Given the description of an element on the screen output the (x, y) to click on. 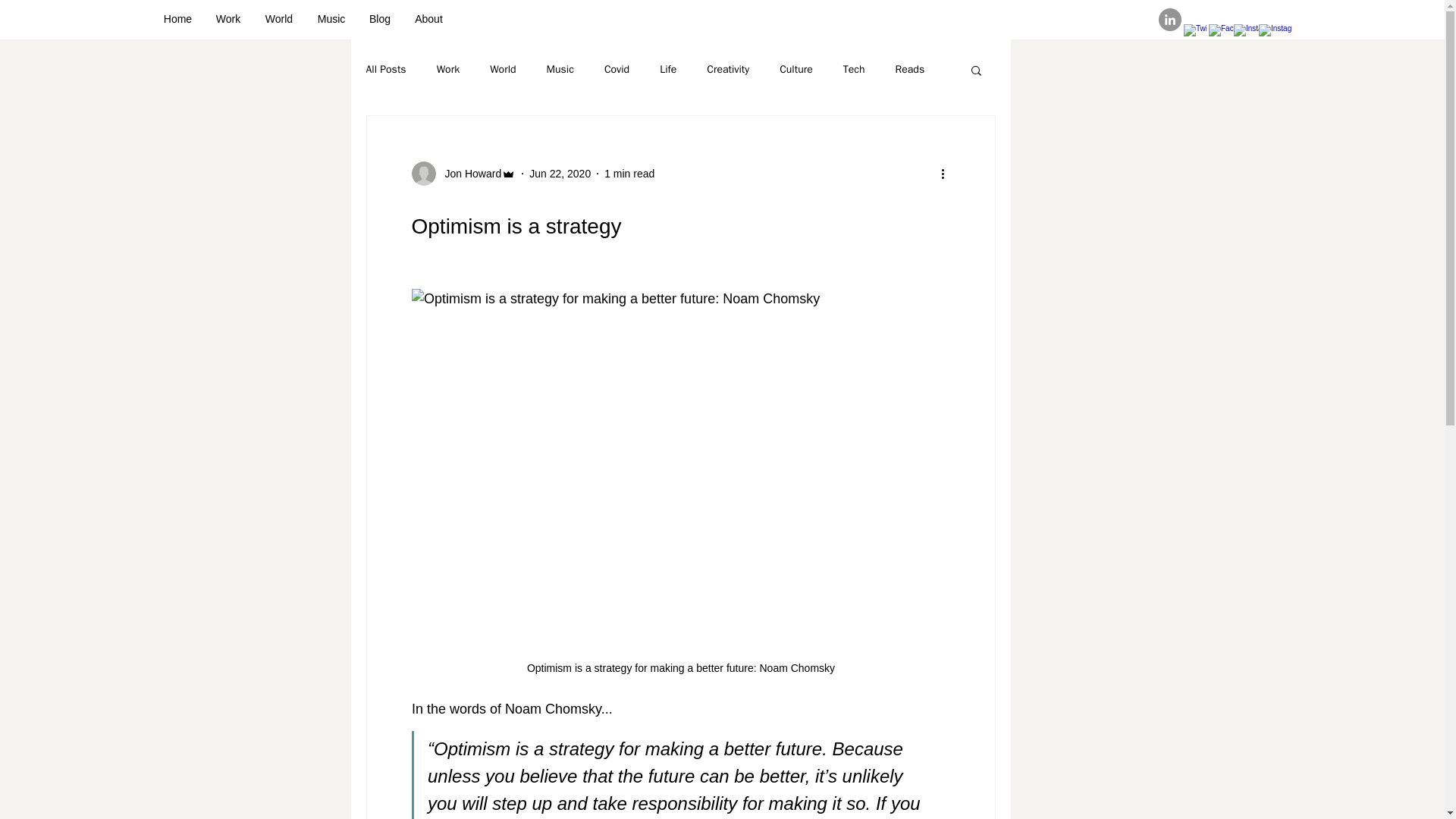
World (278, 18)
Tech (853, 69)
Covid (616, 69)
World (502, 69)
Creativity (727, 69)
Music (330, 18)
Jon Howard (467, 172)
About (428, 18)
1 min read (628, 173)
Culture (795, 69)
Music (560, 69)
Blog (379, 18)
Life (668, 69)
Jun 22, 2020 (560, 173)
Reads (909, 69)
